Given the description of an element on the screen output the (x, y) to click on. 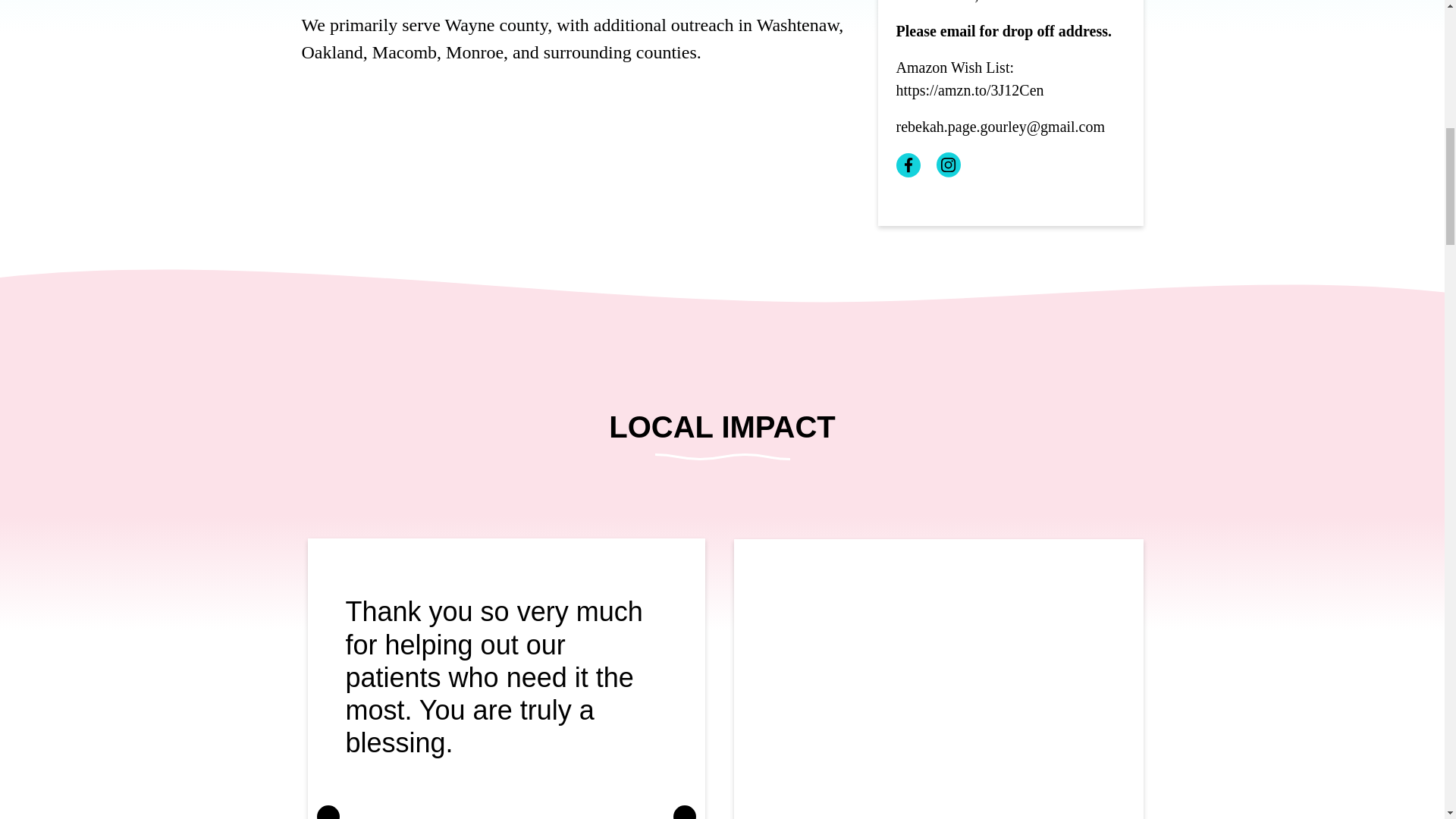
Previous (328, 812)
Next (683, 812)
email (957, 30)
Follow us on Instagram (948, 164)
Like us on Facebook (908, 163)
